Given the description of an element on the screen output the (x, y) to click on. 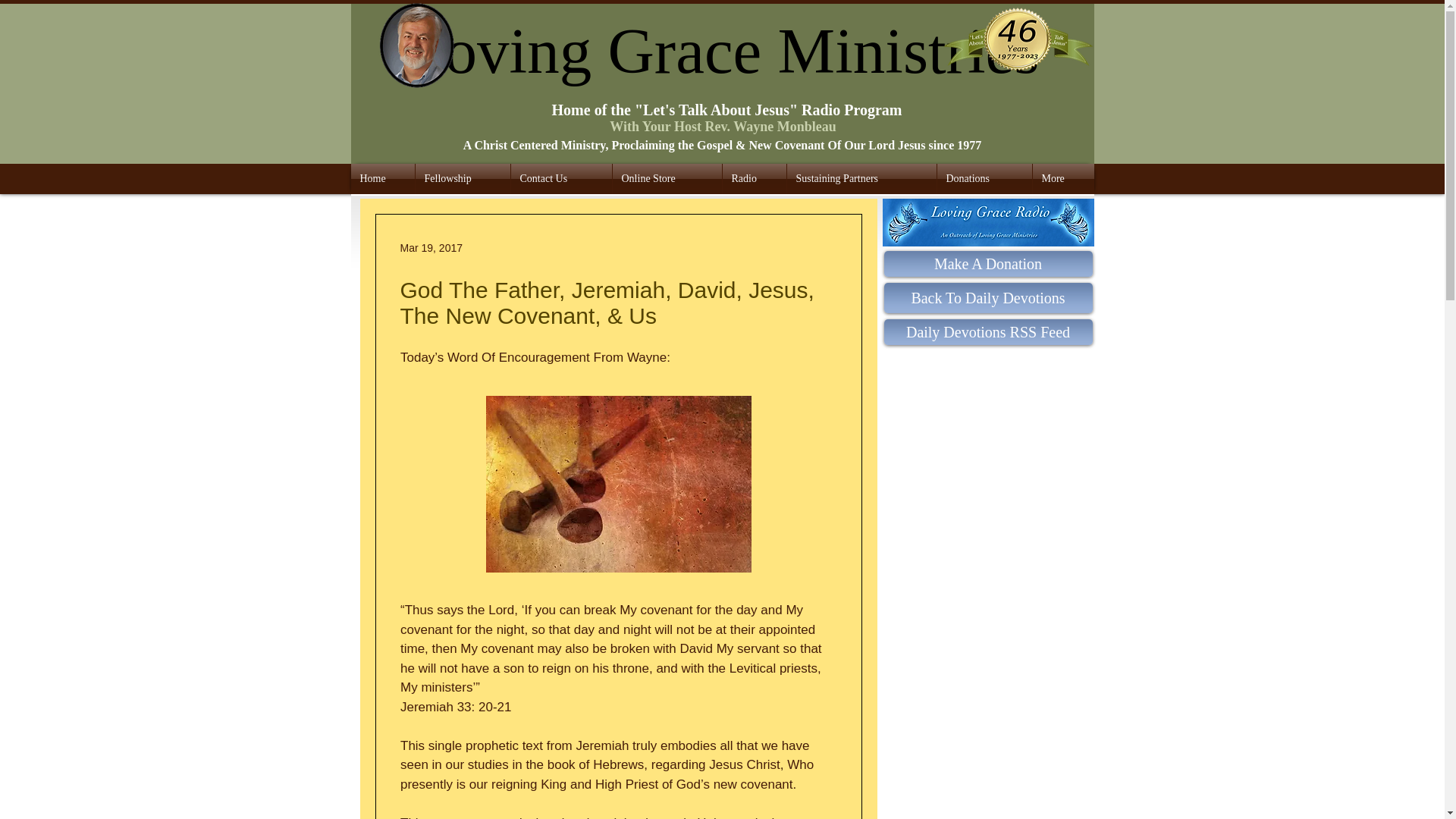
Home (381, 178)
Online Store (667, 178)
Fellowship (462, 178)
Contact Us (561, 178)
logo41.png (1017, 43)
Sustaining Partners (861, 178)
Radio (754, 178)
Mar 19, 2017 (431, 246)
Donations (984, 178)
Wayne Monbleau (418, 45)
